Given the description of an element on the screen output the (x, y) to click on. 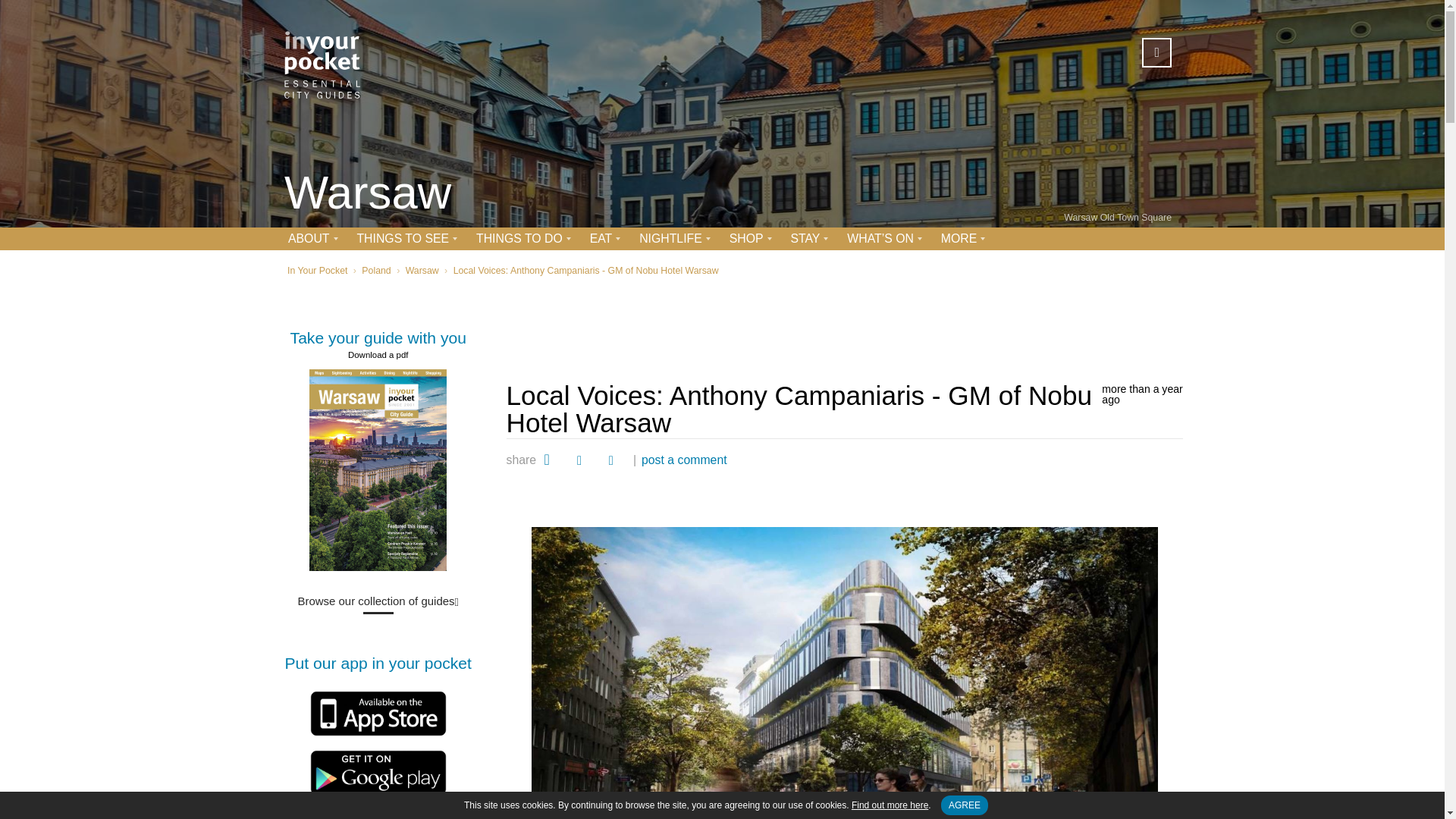
post a comment (684, 459)
Warsaw Old Town Square (1118, 217)
Advertisement (845, 325)
Warsaw (367, 194)
